Given the description of an element on the screen output the (x, y) to click on. 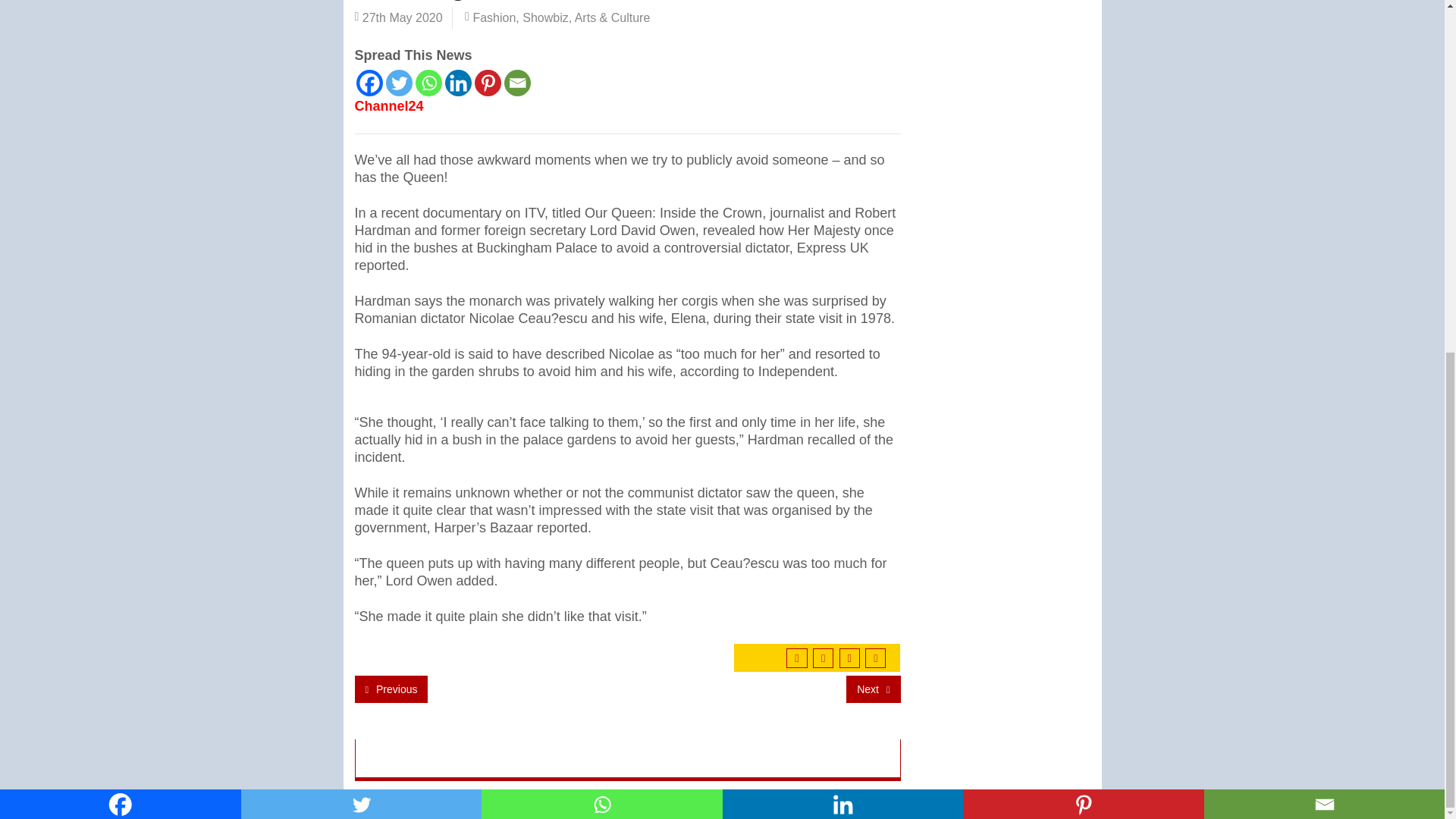
Whatsapp (428, 82)
Email (516, 82)
Facebook (369, 82)
Linkedin (842, 191)
Pinterest (1083, 191)
Pinterest (487, 82)
Linkedin (457, 82)
Facebook (120, 191)
Twitter (398, 82)
Whatsapp (601, 191)
